Given the description of an element on the screen output the (x, y) to click on. 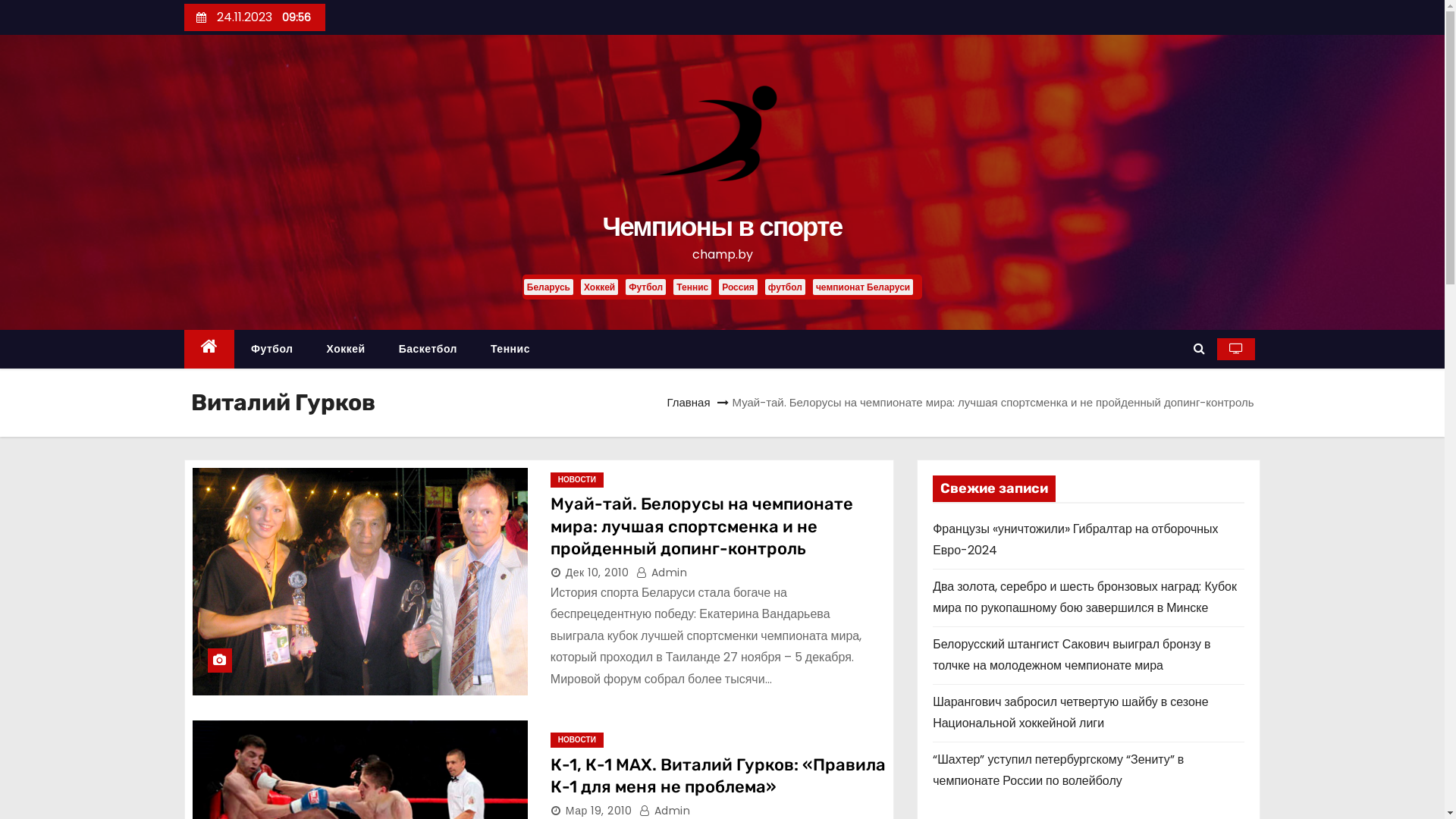
Home Element type: hover (208, 348)
Admin Element type: text (661, 572)
Admin Element type: text (664, 810)
